Given the description of an element on the screen output the (x, y) to click on. 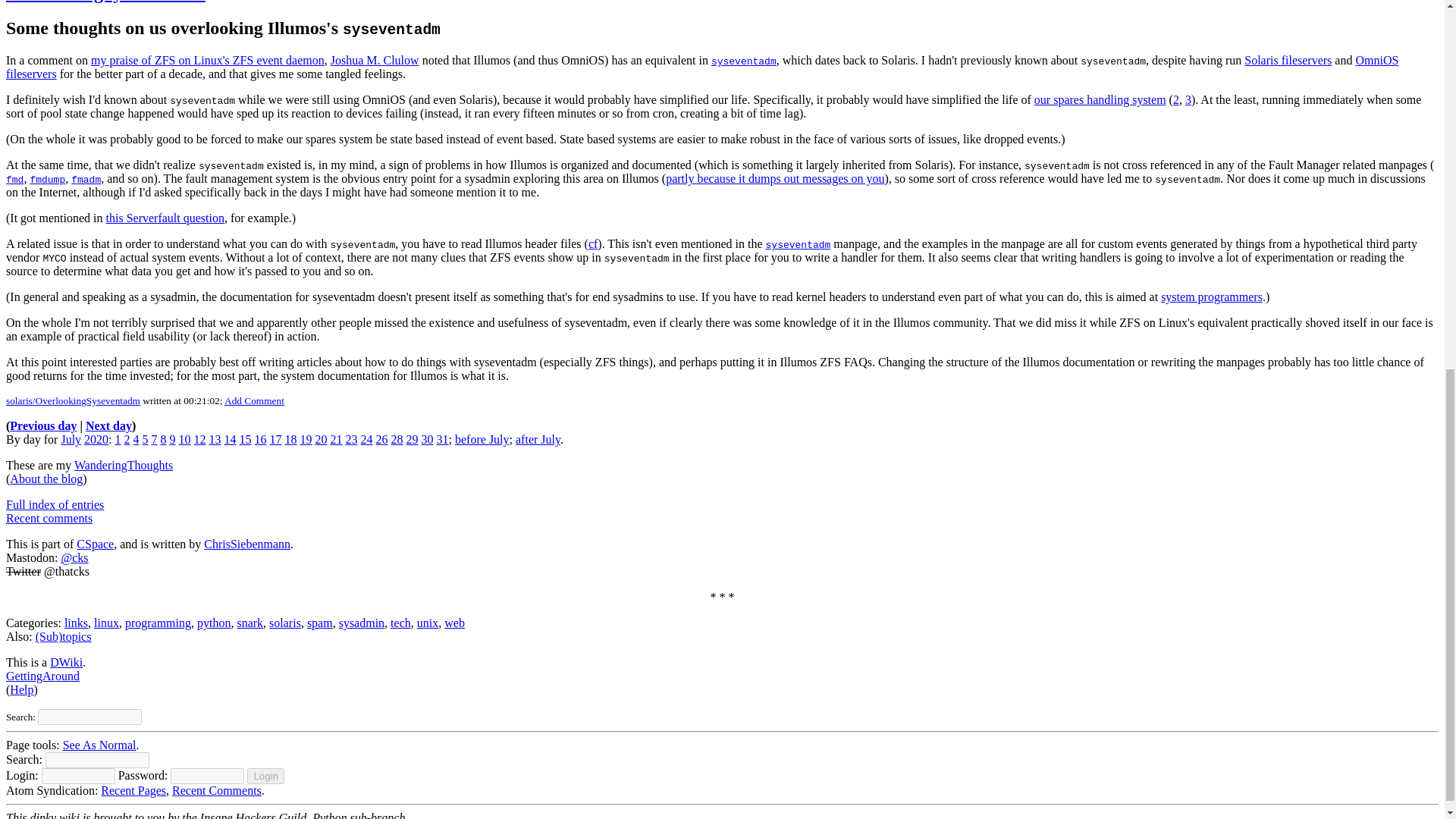
my praise of ZFS on Linux's ZFS event daemon (207, 60)
our spares handling system (1099, 99)
OmniOS fileservers (701, 67)
July (71, 439)
Next day (108, 425)
syseventadm (743, 60)
Login (265, 775)
fmadm (85, 178)
fmd (14, 178)
Joshua M. Clulow (374, 60)
